Given the description of an element on the screen output the (x, y) to click on. 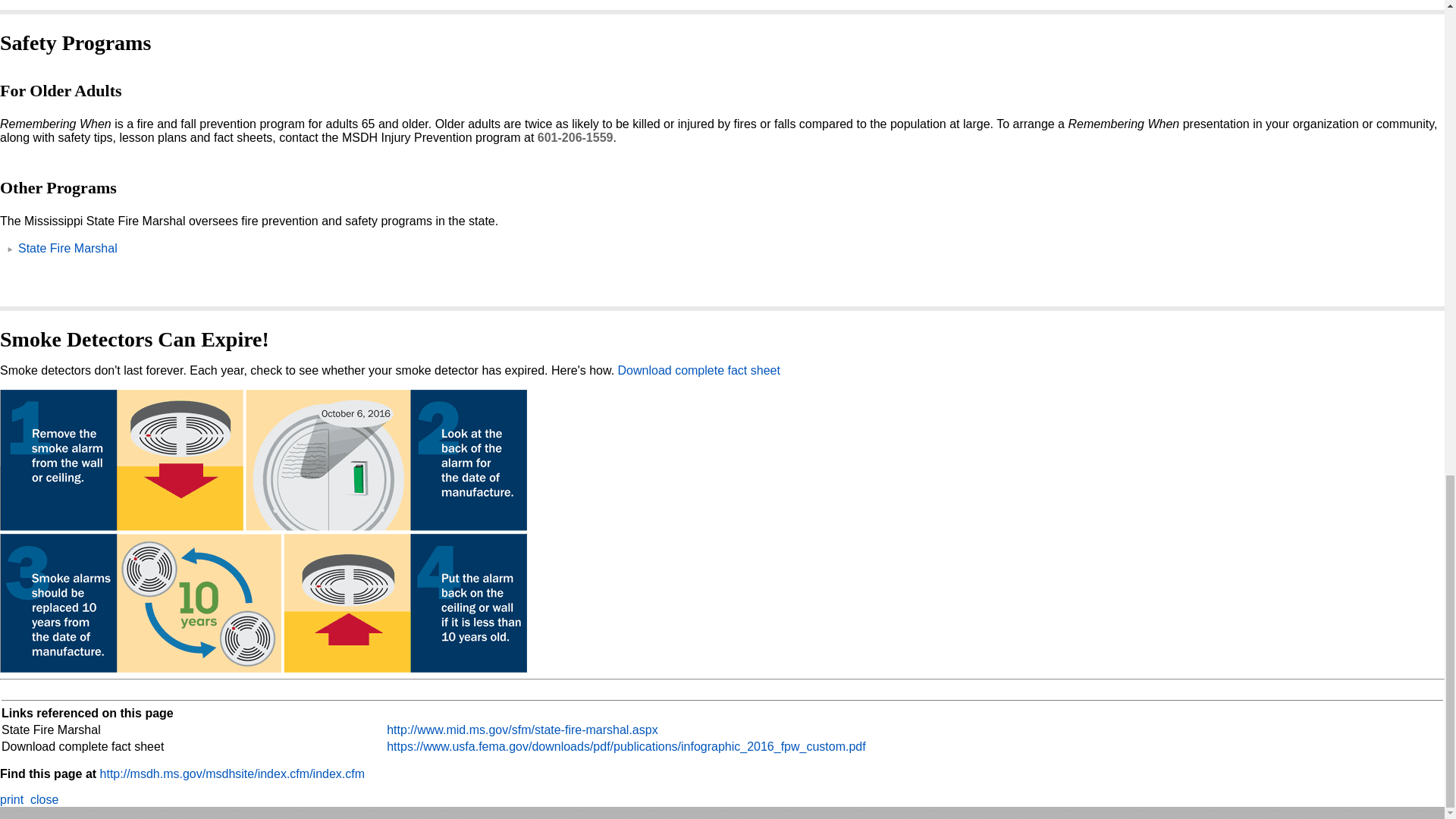
State Fire Marshal (67, 247)
print (11, 799)
close (44, 799)
Download complete fact sheet (698, 369)
